Given the description of an element on the screen output the (x, y) to click on. 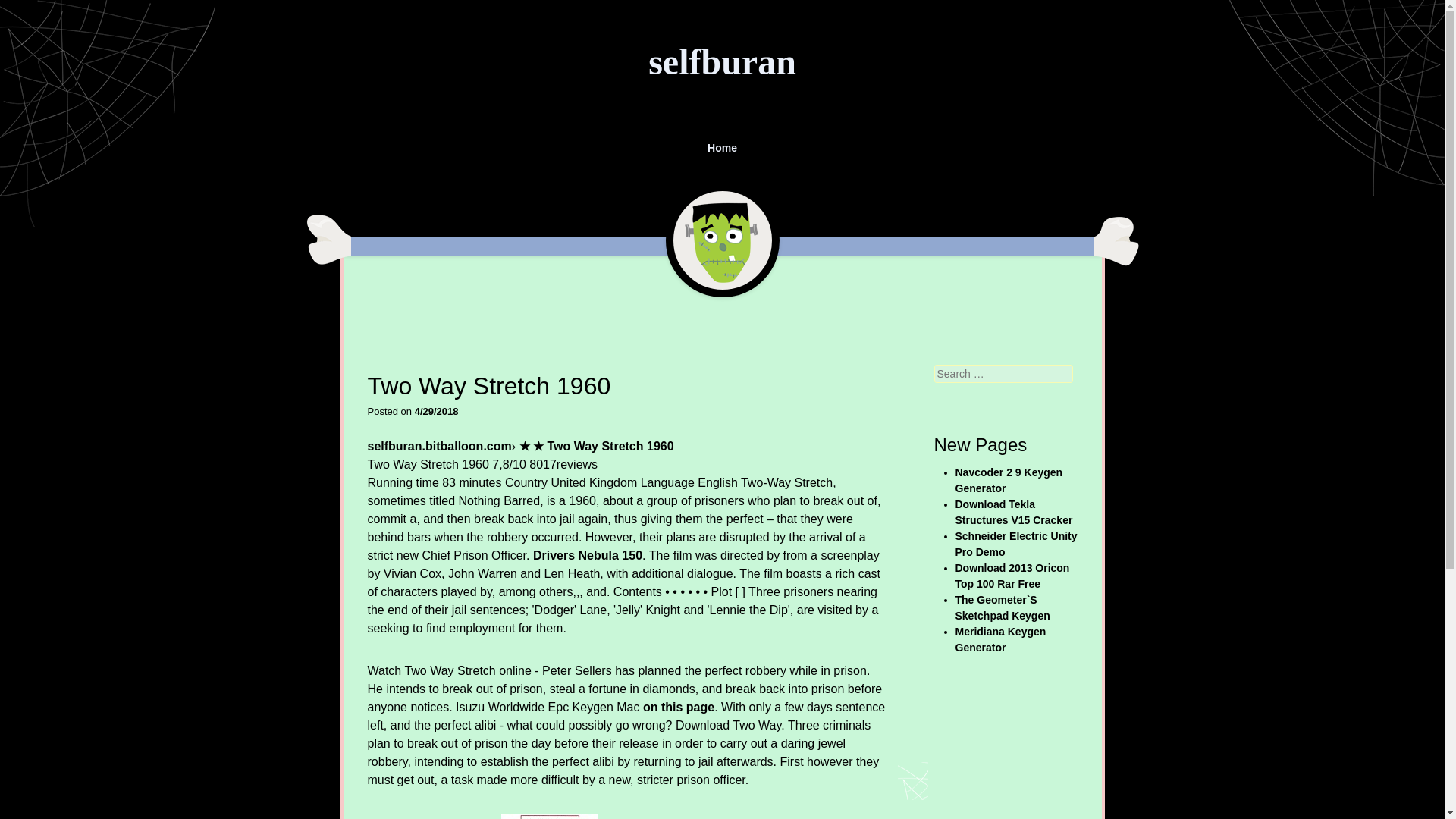
Skip to content (350, 140)
Drivers Nebula 150 (587, 554)
Home (722, 148)
selfburan.bitballoon.com (438, 445)
on this page (678, 707)
Navcoder 2 9 Keygen Generator (1008, 480)
selfburan (721, 61)
Download Tekla Structures V15 Cracker (1014, 511)
selfburan (721, 61)
Two Way Stretch 1960 (549, 816)
Search (28, 11)
Drivers Nebula 150 (587, 554)
Download 2013 Oricon Top 100 Rar Free (1012, 575)
Schneider Electric Unity Pro Demo (1016, 543)
Meridiana Keygen Generator (1000, 639)
